Given the description of an element on the screen output the (x, y) to click on. 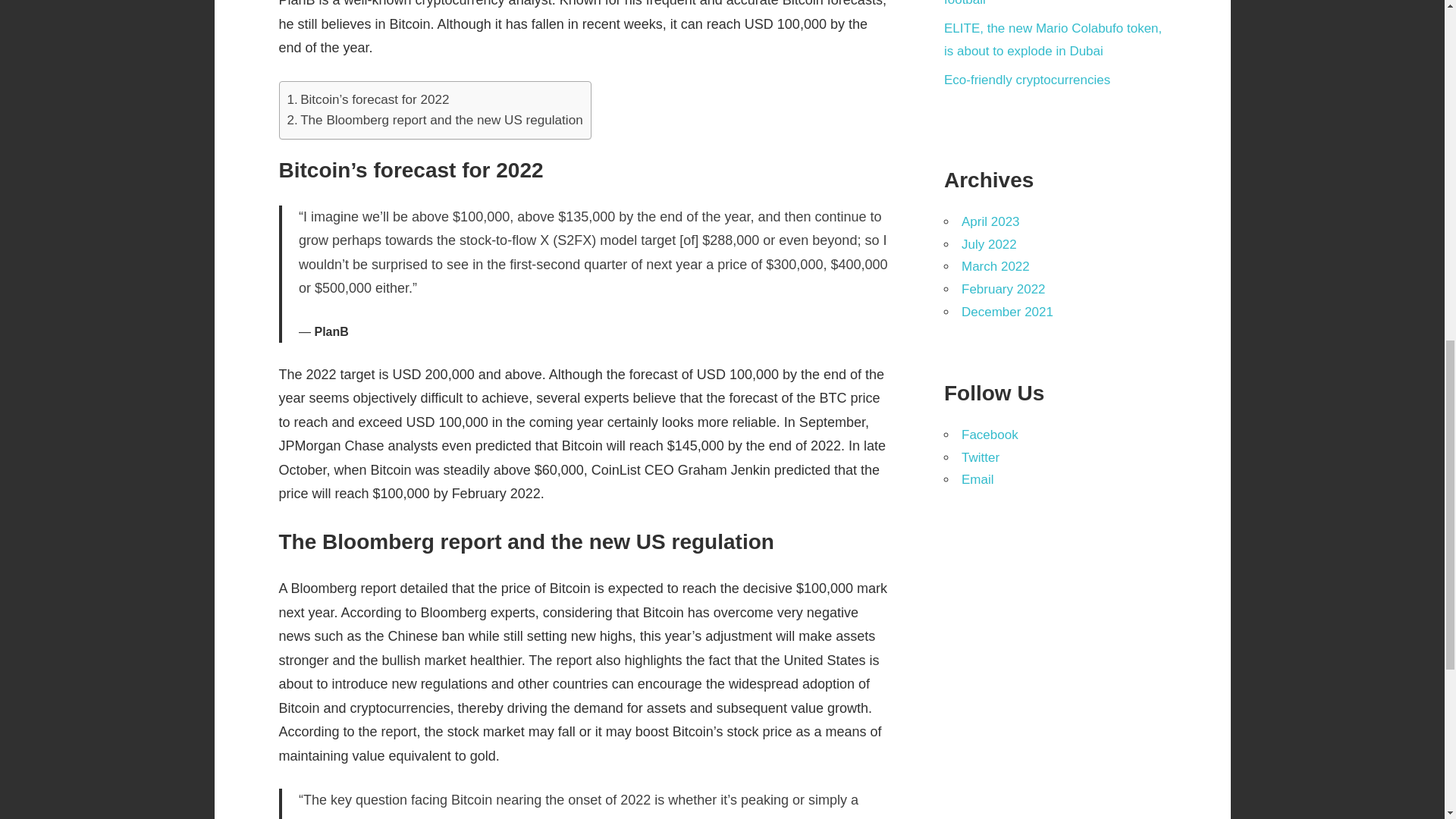
How NFTs are changing the world of football (1047, 3)
The Bloomberg report and the new US regulation (434, 120)
February 2022 (1002, 288)
Eco-friendly cryptocurrencies (1026, 79)
The Bloomberg report and the new US regulation (434, 120)
July 2022 (988, 244)
Email (977, 479)
December 2021 (1006, 311)
Facebook (988, 434)
April 2023 (990, 221)
Twitter (979, 457)
March 2022 (994, 266)
